Given the description of an element on the screen output the (x, y) to click on. 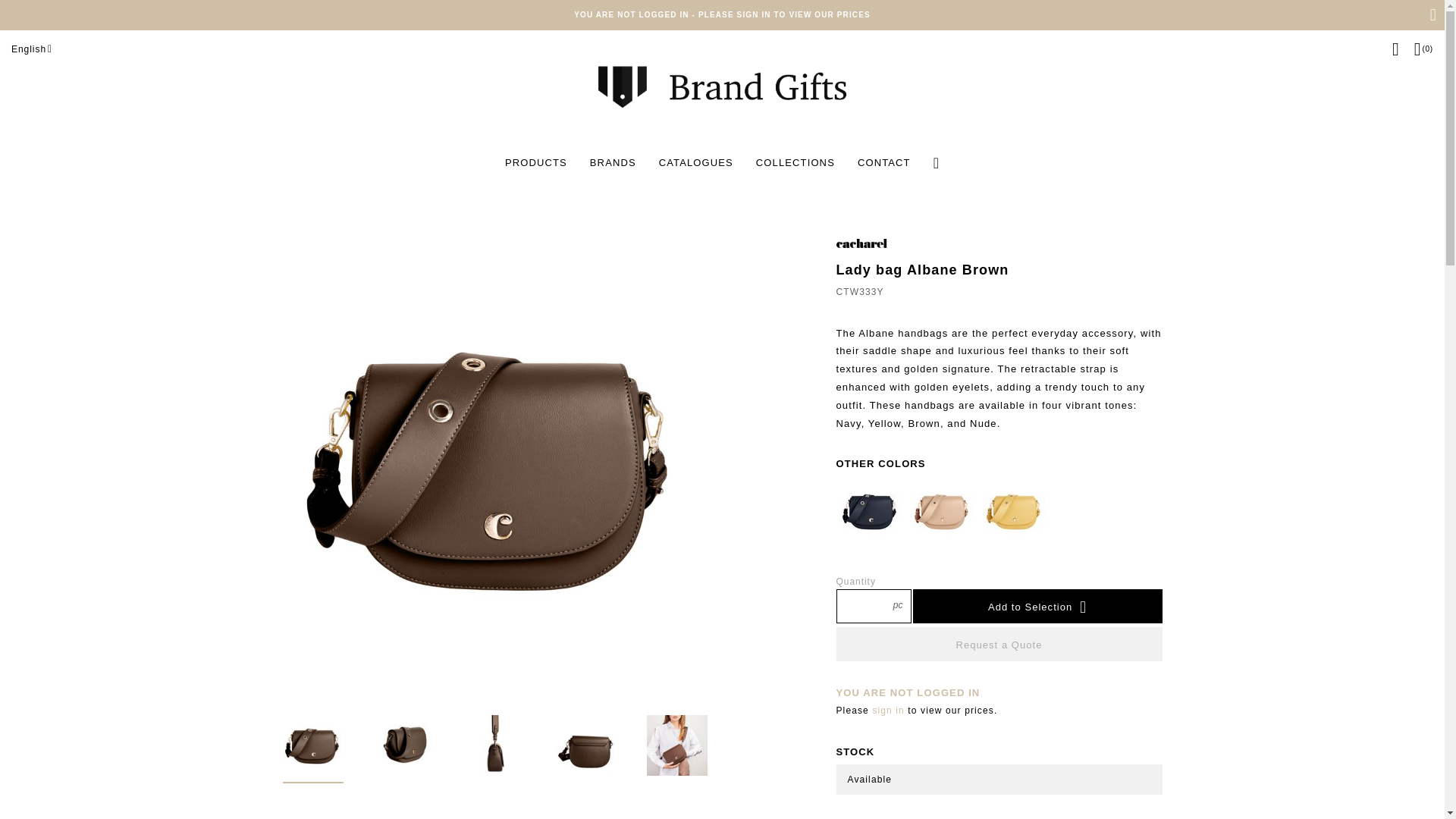
PRODUCTS (535, 162)
PLEASE SIGN IN TO VIEW OUR PRICES (784, 14)
CATALOGUES (695, 162)
BRANDS (612, 162)
COLLECTIONS (794, 162)
English (32, 48)
